Given the description of an element on the screen output the (x, y) to click on. 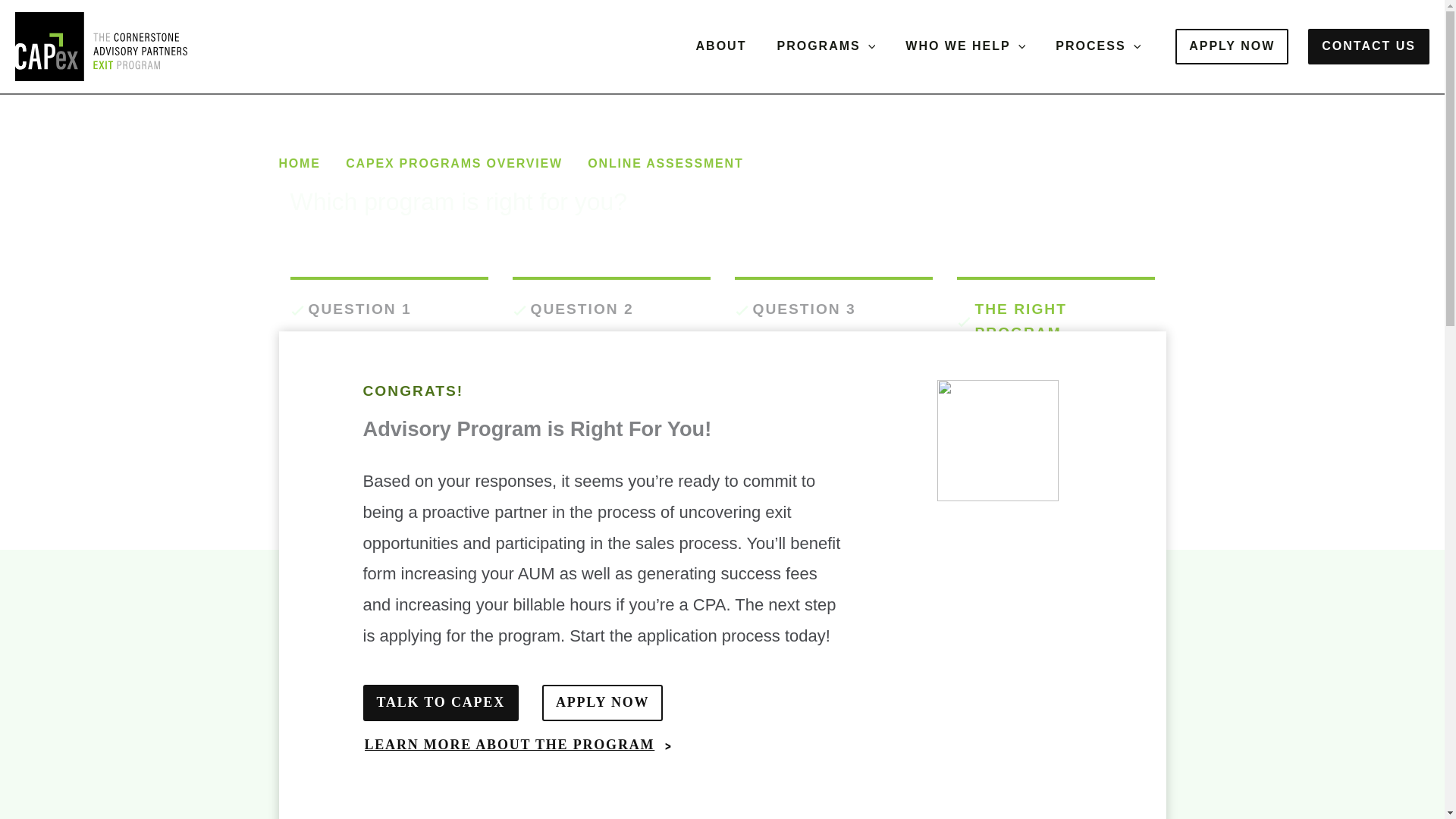
PROGRAMS (825, 46)
WHO WE HELP (965, 46)
APPLY NOW (1231, 46)
CONTACT US (1368, 46)
PROCESS (1098, 46)
ABOUT (721, 46)
